Given the description of an element on the screen output the (x, y) to click on. 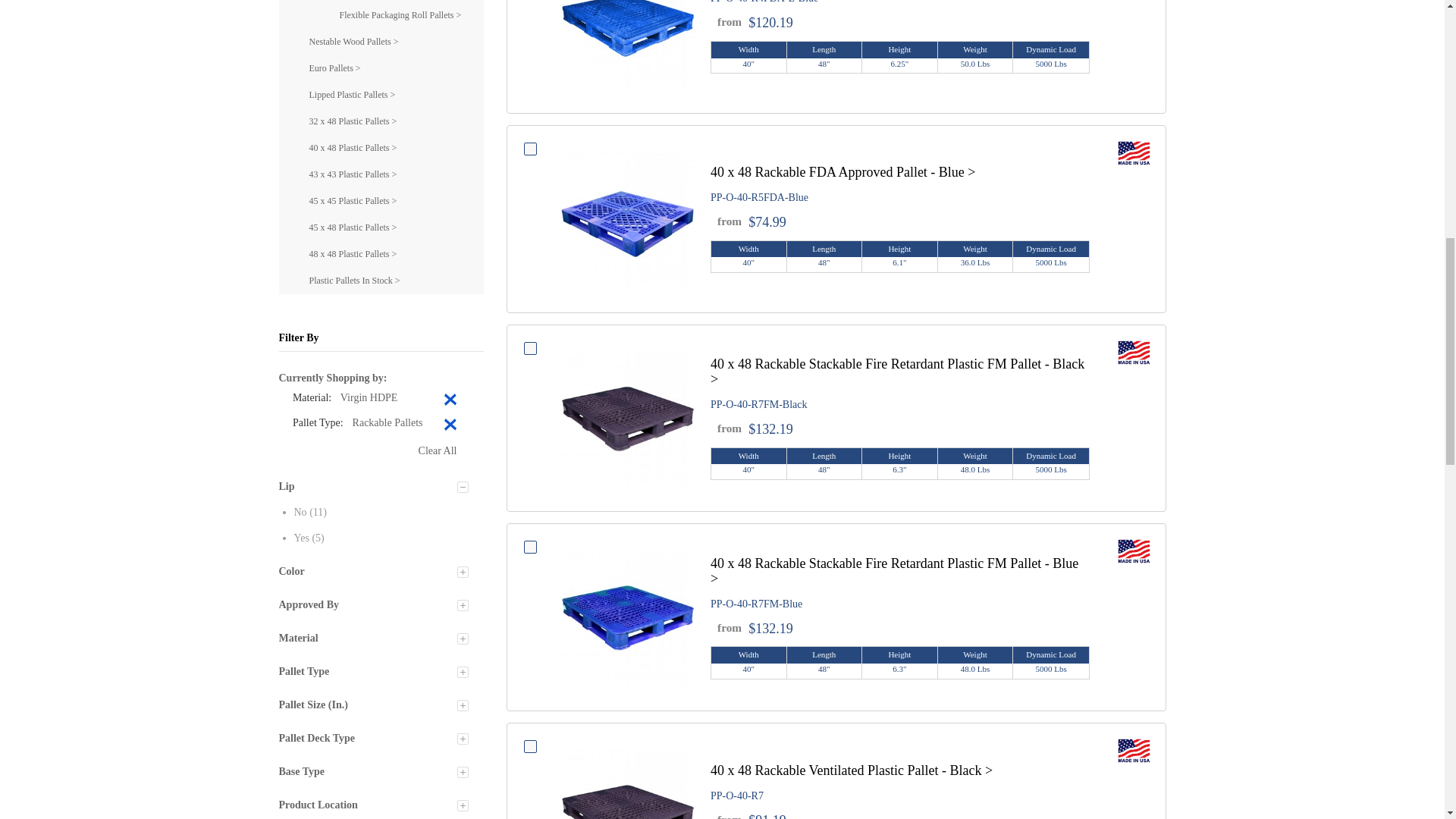
No (300, 511)
Remove This Item (452, 400)
Remove This Item (452, 426)
Yes (301, 538)
